Given the description of an element on the screen output the (x, y) to click on. 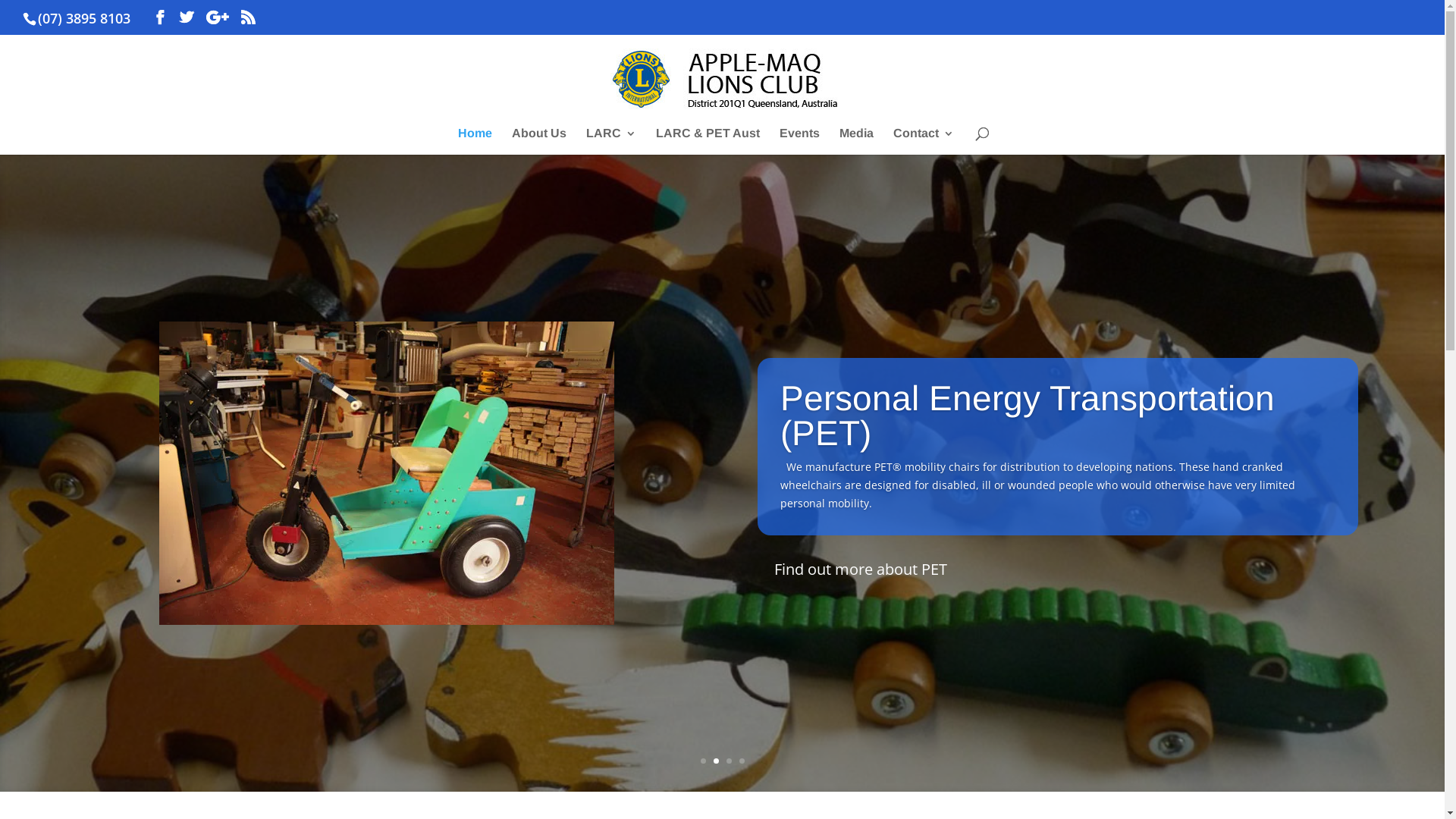
About Us Element type: text (538, 141)
Home Element type: text (475, 141)
1 Element type: text (703, 760)
3 Element type: text (728, 760)
LARC & PET Aust Element type: text (707, 141)
Media Element type: text (855, 141)
2 Element type: text (715, 760)
Contact Element type: text (923, 141)
LARC Element type: text (610, 141)
Personal Energy Transportation (PET) Element type: text (1027, 470)
Find out more about PET Element type: text (860, 621)
Events Element type: text (799, 141)
4 Element type: text (740, 760)
